Given the description of an element on the screen output the (x, y) to click on. 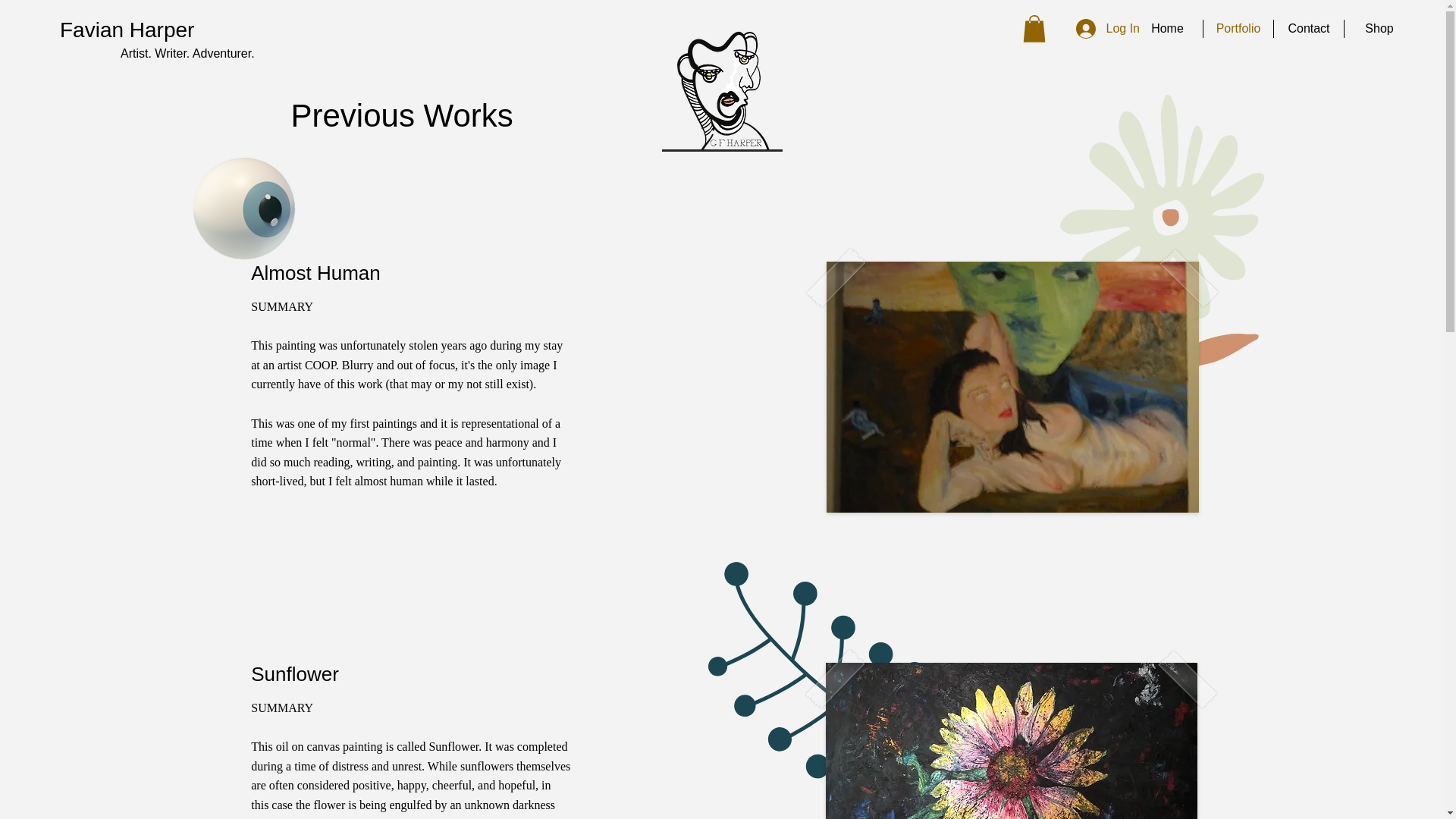
Log In (1107, 28)
Eye (222, 182)
Shop (1378, 28)
Home (1167, 28)
Portfolio (1238, 28)
Contact (1308, 28)
Favian Harper (126, 29)
